Given the description of an element on the screen output the (x, y) to click on. 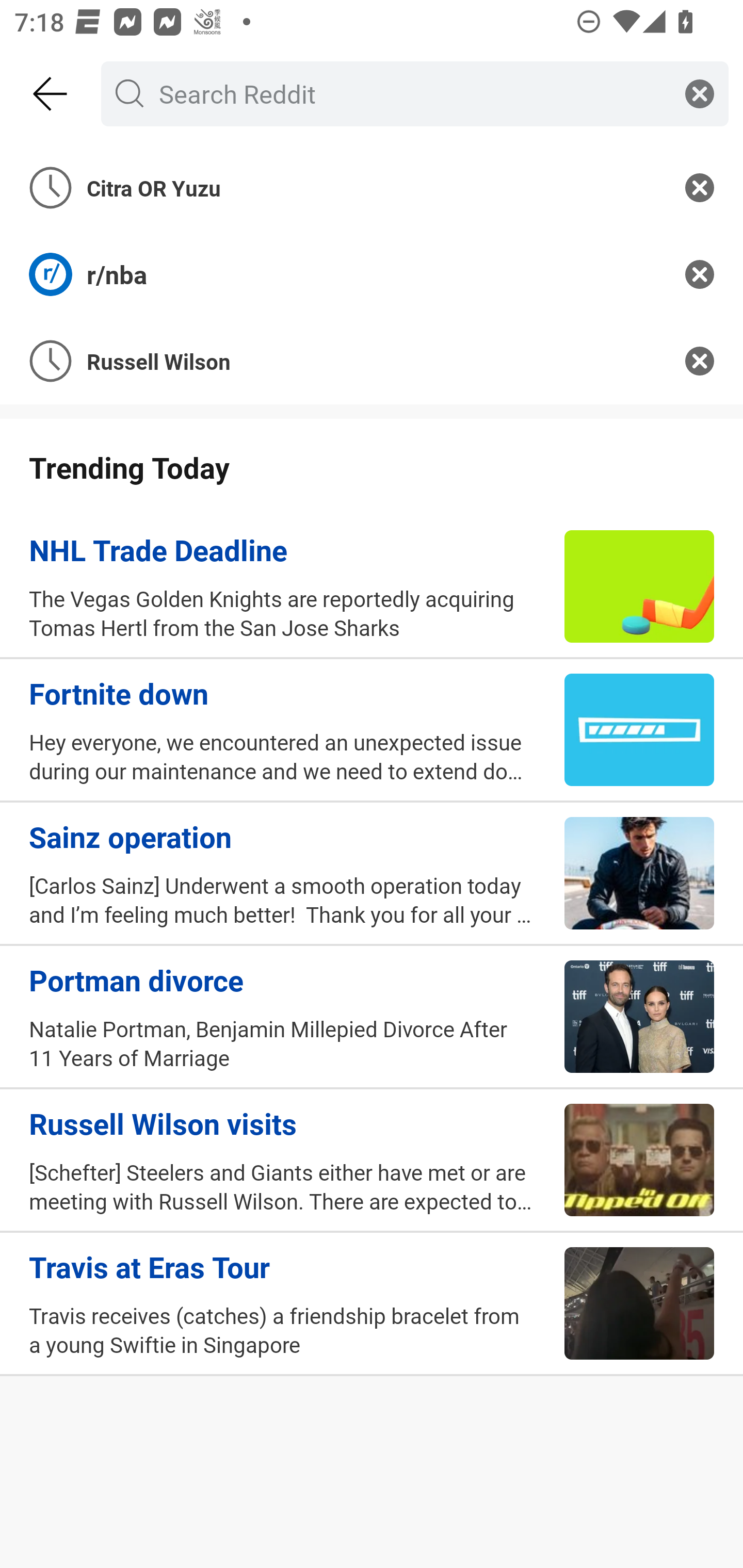
Back (50, 93)
Search Reddit (410, 93)
Clear search (699, 93)
Citra OR Yuzu Recent search: Citra OR Yuzu Remove (371, 187)
Remove (699, 187)
r/nba Recent search: r/nba Remove (371, 274)
Remove (699, 274)
Remove (699, 361)
